Given the description of an element on the screen output the (x, y) to click on. 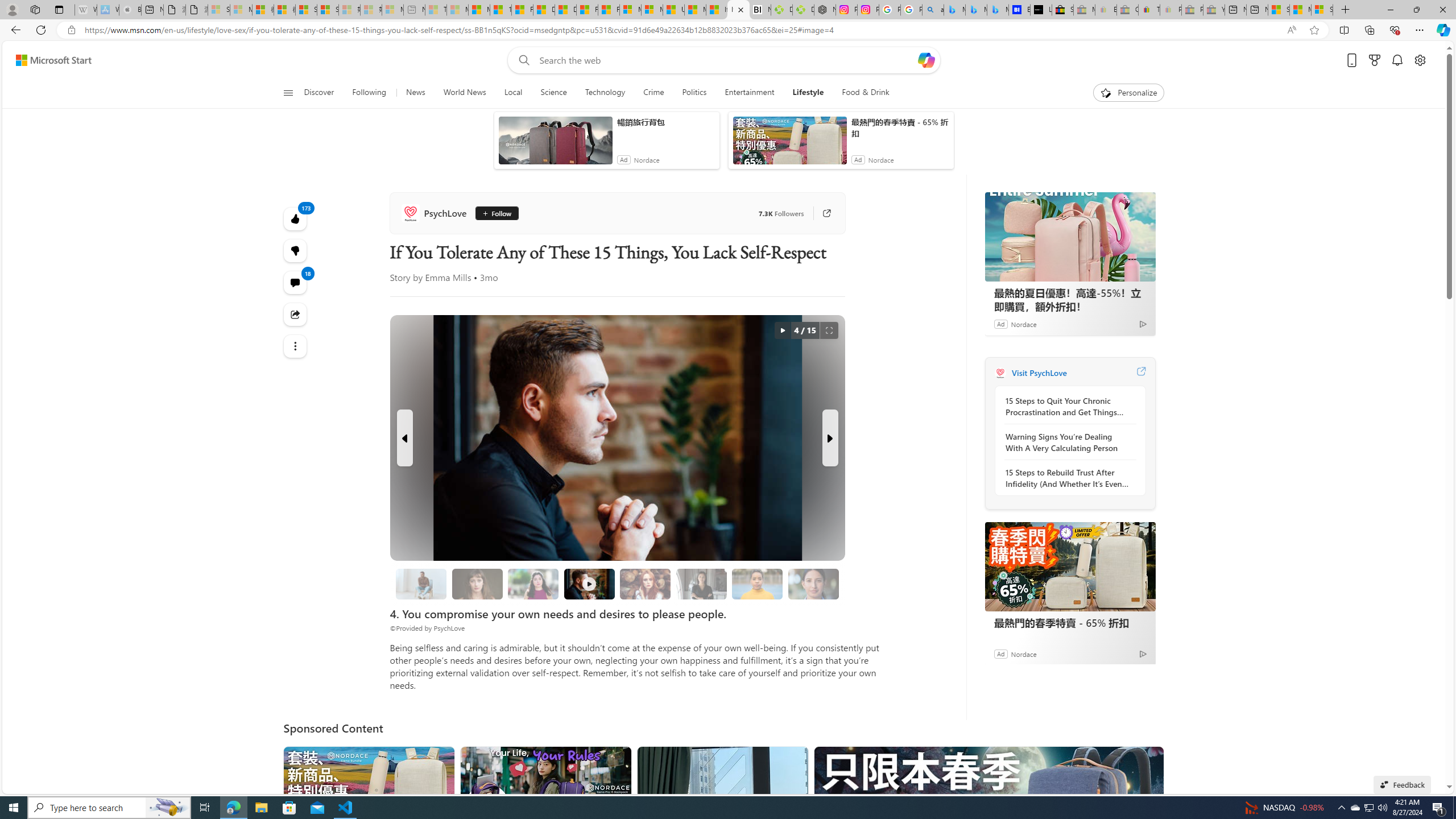
Previous Slide (404, 437)
Class: at-item (295, 345)
Selling on eBay | Electronics, Fashion, Home & Garden | eBay (1062, 9)
